Given the description of an element on the screen output the (x, y) to click on. 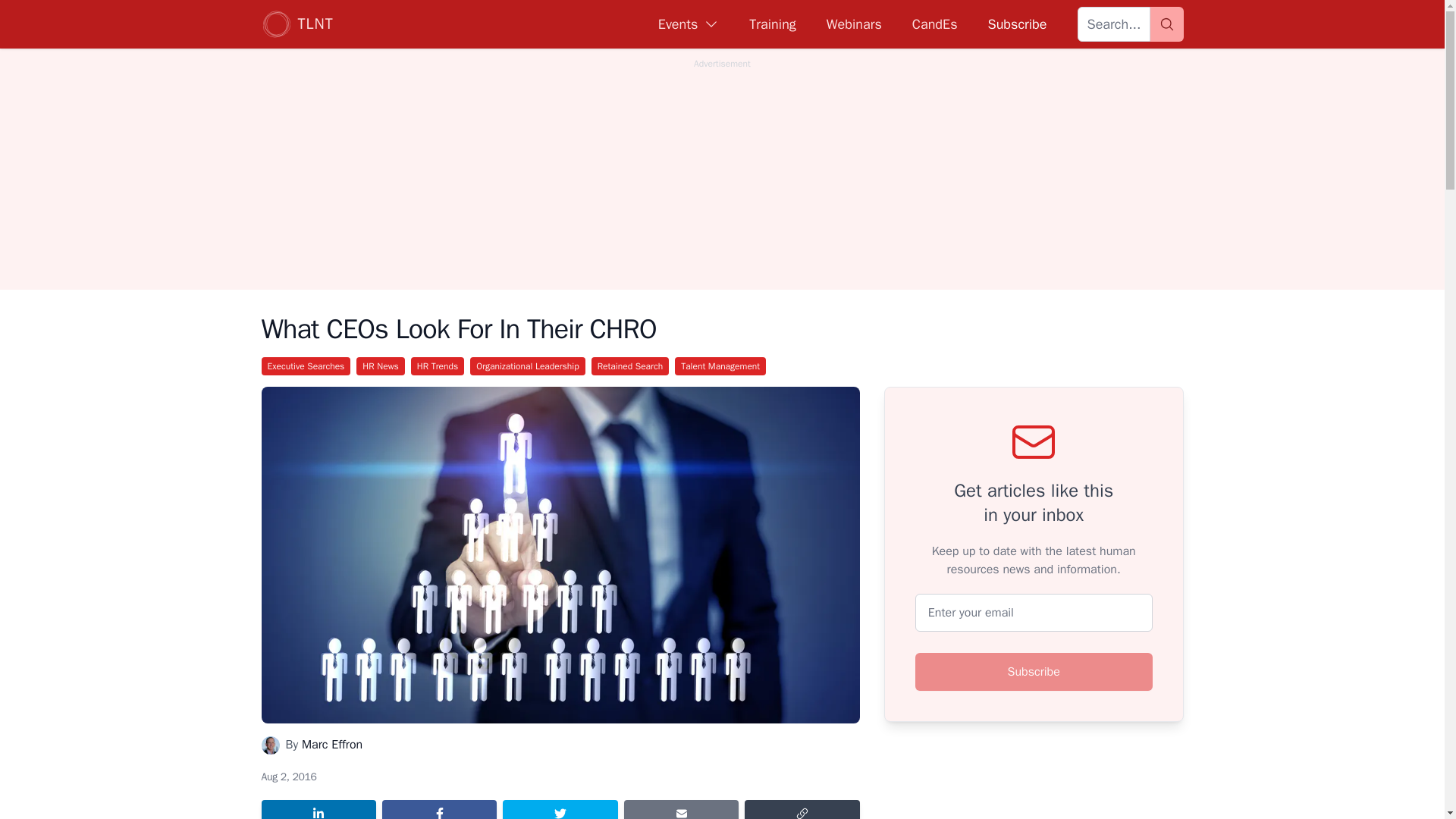
Events (688, 24)
TLNT (296, 24)
CandEs (935, 24)
Webinars (854, 24)
Training (771, 24)
Subscribe (1016, 24)
Subscribe (1034, 671)
Marc Effron (331, 744)
HR Trends (437, 366)
Talent Management (720, 366)
Organizational Leadership (527, 366)
HR News (380, 366)
Executive Searches (305, 366)
Retained Search (630, 366)
